Given the description of an element on the screen output the (x, y) to click on. 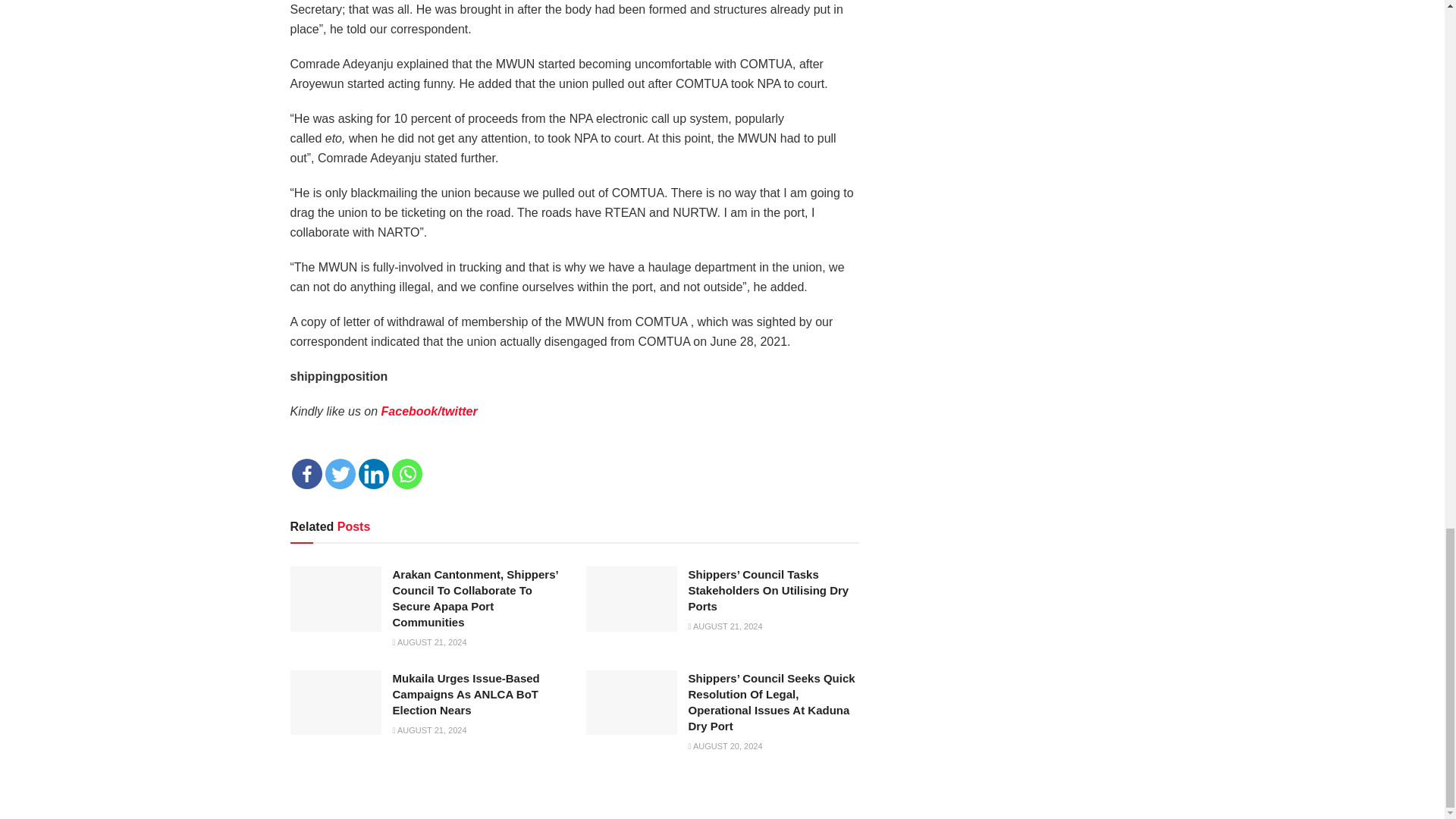
Linkedin (373, 473)
Whatsapp (406, 473)
AUGUST 21, 2024 (430, 642)
AUGUST 21, 2024 (430, 729)
Twitter (339, 473)
Facebook (306, 473)
AUGUST 21, 2024 (725, 625)
